Given the description of an element on the screen output the (x, y) to click on. 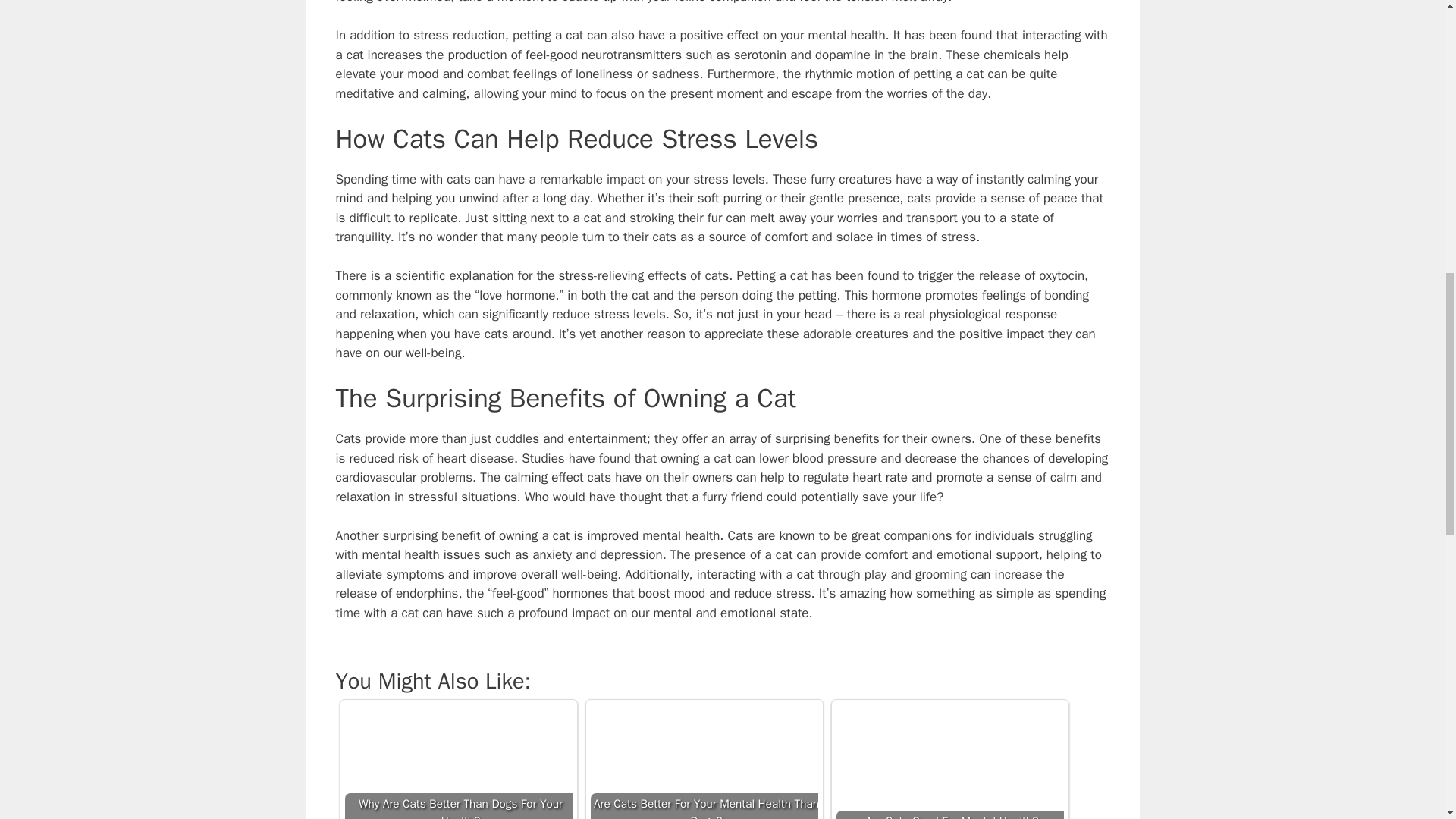
Are Cats Better For Your Mental Health Than Dogs? (702, 761)
Why Are Cats Better Than Dogs For Your Health? (457, 761)
Are Cats Good For Mental Health? (948, 761)
